Given the description of an element on the screen output the (x, y) to click on. 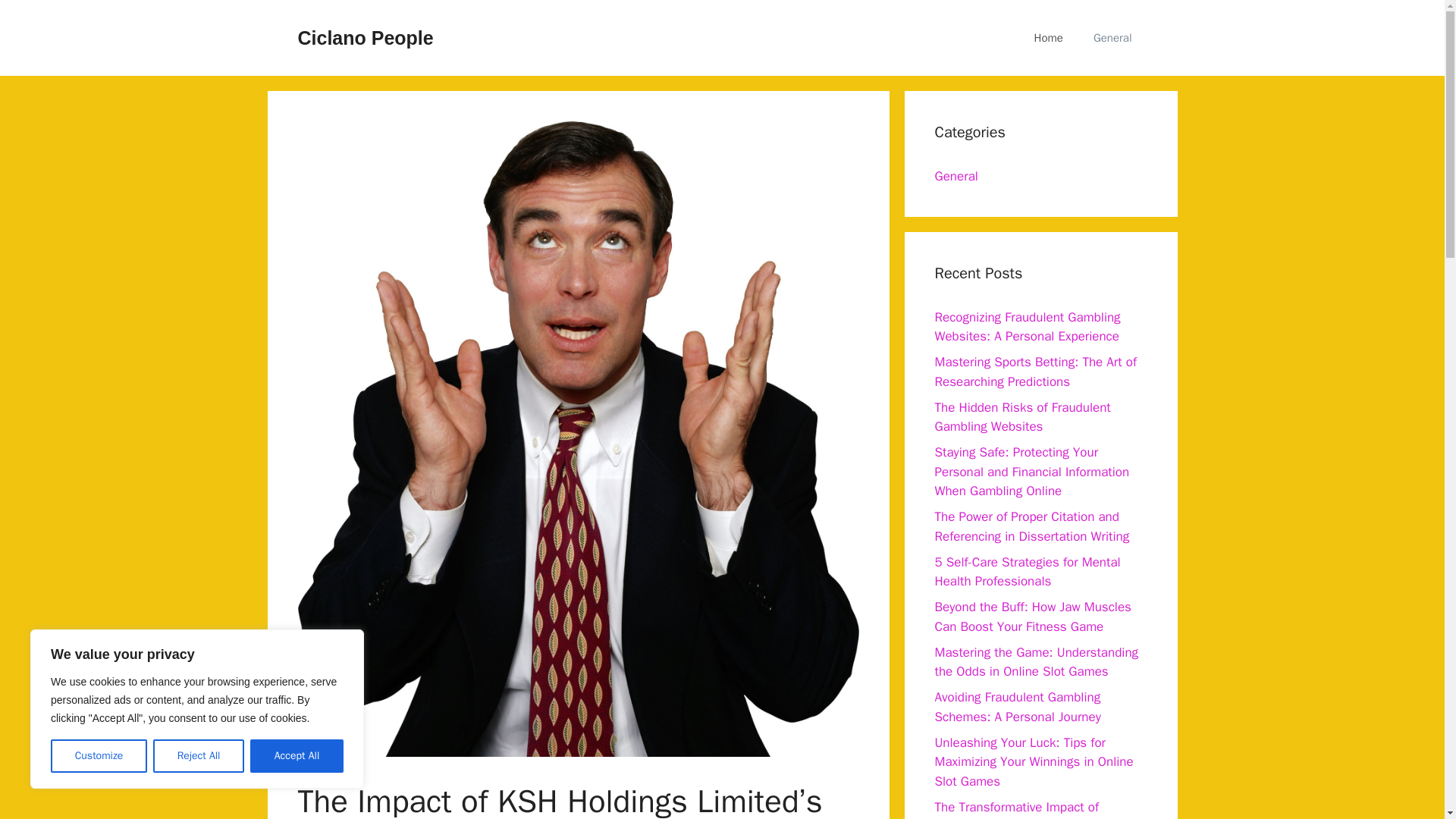
Customize (98, 756)
5 Self-Care Strategies for Mental Health Professionals (1026, 570)
The Hidden Risks of Fraudulent Gambling Websites (1021, 416)
Home (1048, 37)
General (955, 176)
Reject All (198, 756)
Mastering Sports Betting: The Art of Researching Predictions (1035, 371)
Accept All (296, 756)
Beyond the Buff: How Jaw Muscles Can Boost Your Fitness Game (1032, 616)
General (1112, 37)
Ciclano People (364, 37)
